Given the description of an element on the screen output the (x, y) to click on. 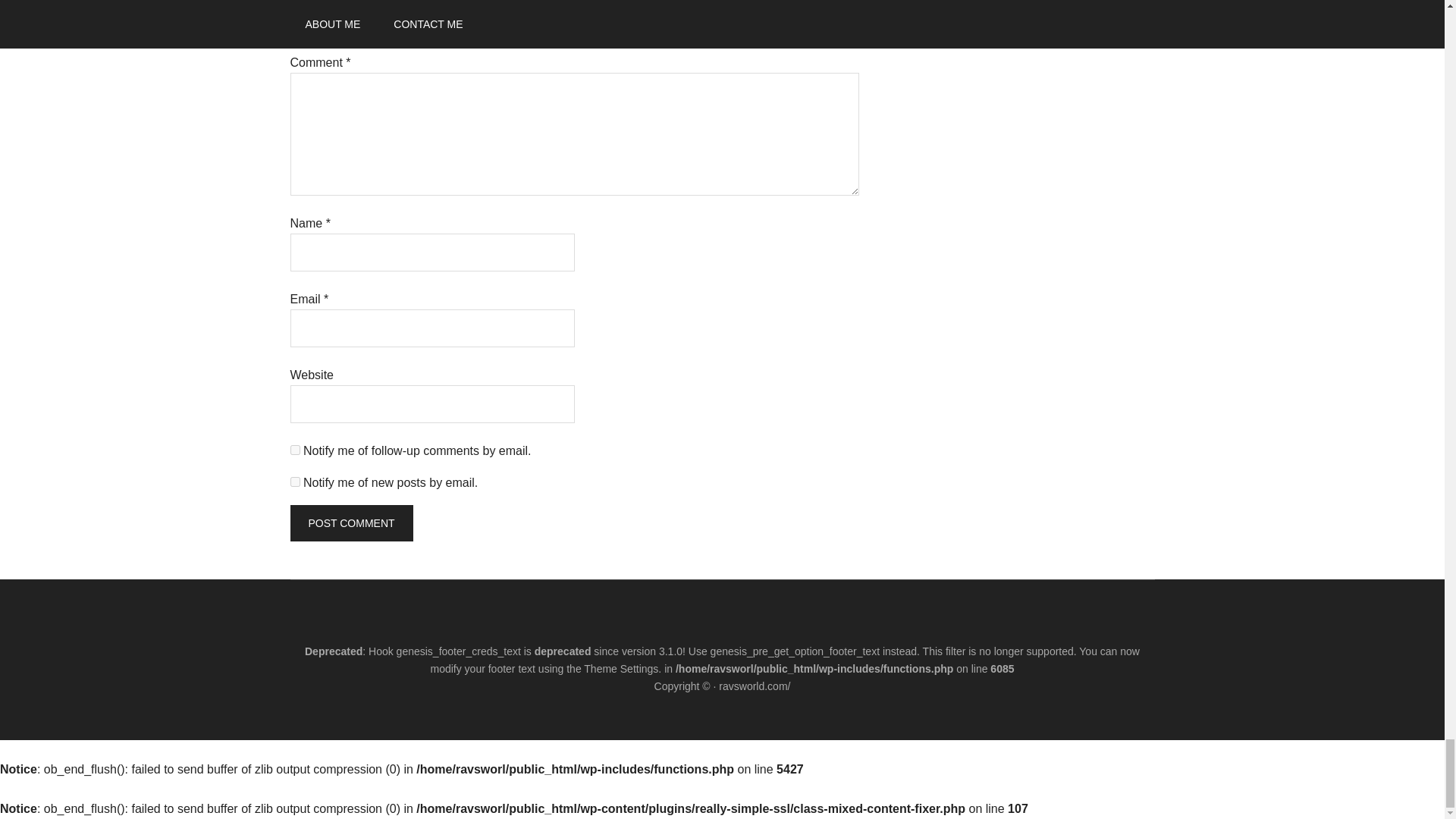
subscribe (294, 481)
subscribe (294, 450)
Post Comment (350, 523)
